Given the description of an element on the screen output the (x, y) to click on. 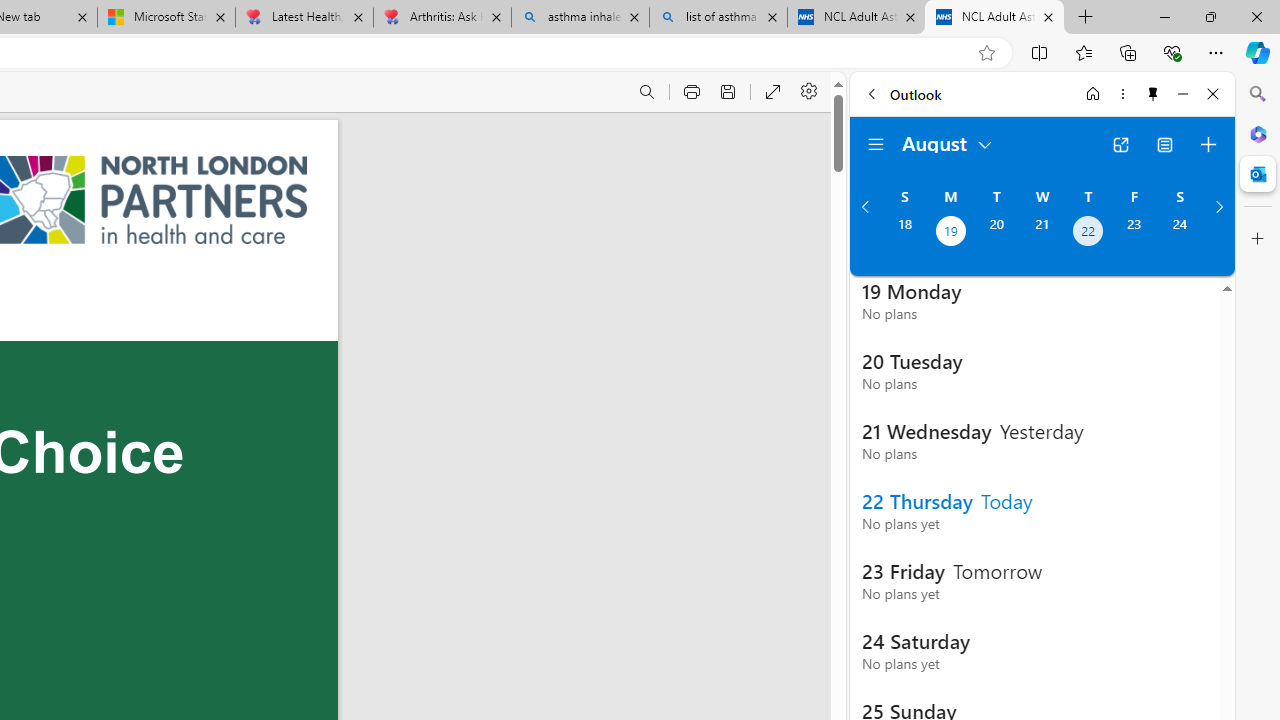
Settings and more (809, 92)
Folder navigation (876, 144)
Create event (1208, 144)
Save (Ctrl+S) (728, 92)
Saturday, August 24, 2024.  (1180, 233)
Monday, August 19, 2024. Date selected.  (950, 233)
August (948, 141)
Tuesday, August 20, 2024.  (996, 233)
